Given the description of an element on the screen output the (x, y) to click on. 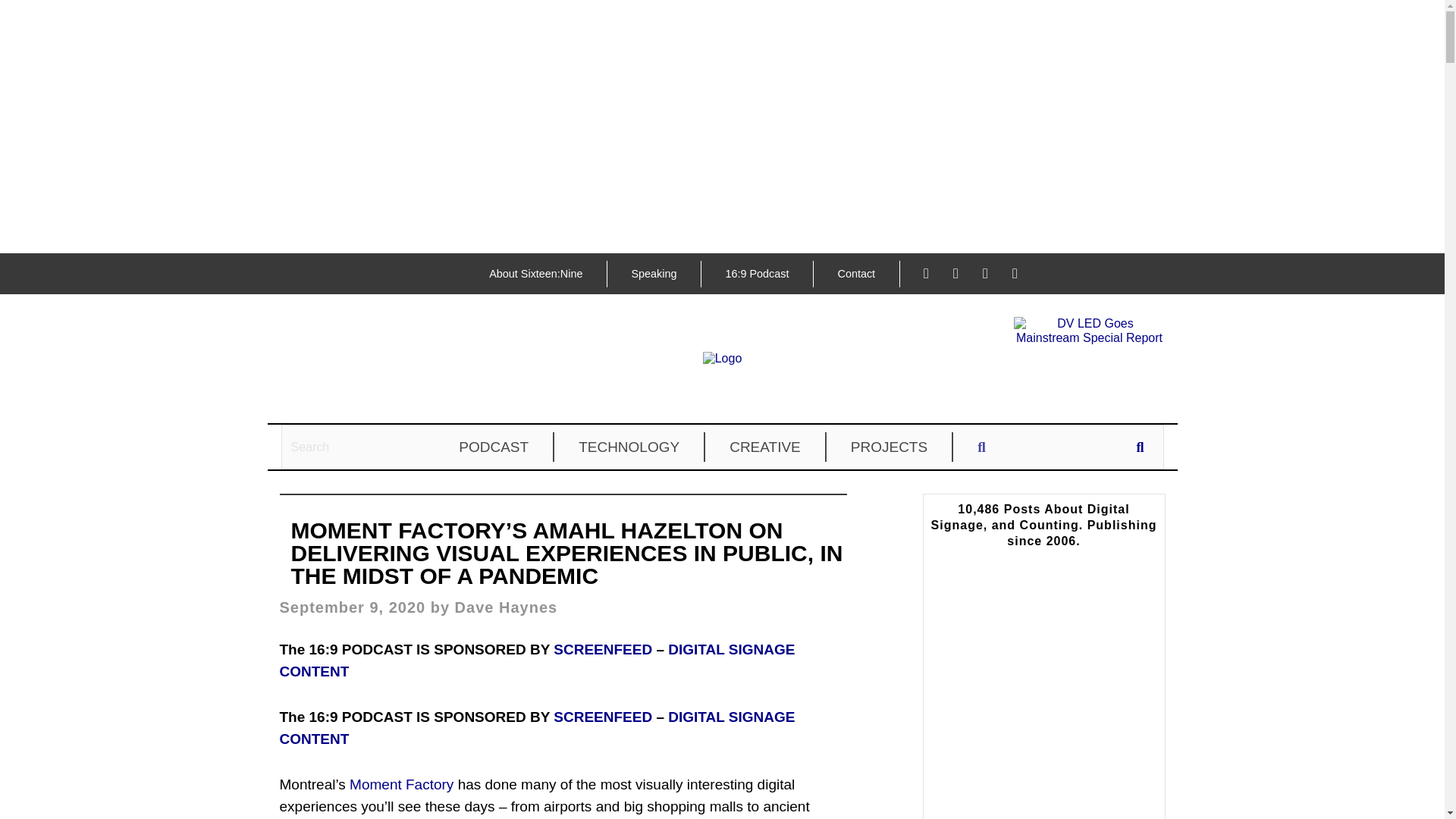
Contact (855, 273)
DIGITAL SIGNAGE CONTENT (536, 660)
SCREENFEED (602, 649)
CREATIVE (765, 446)
PROJECTS (890, 446)
About Sixteen:Nine (535, 273)
Speaking (653, 273)
16:9 Podcast (756, 273)
PODCAST (493, 446)
DIGITAL SIGNAGE CONTENT (536, 727)
